Given the description of an element on the screen output the (x, y) to click on. 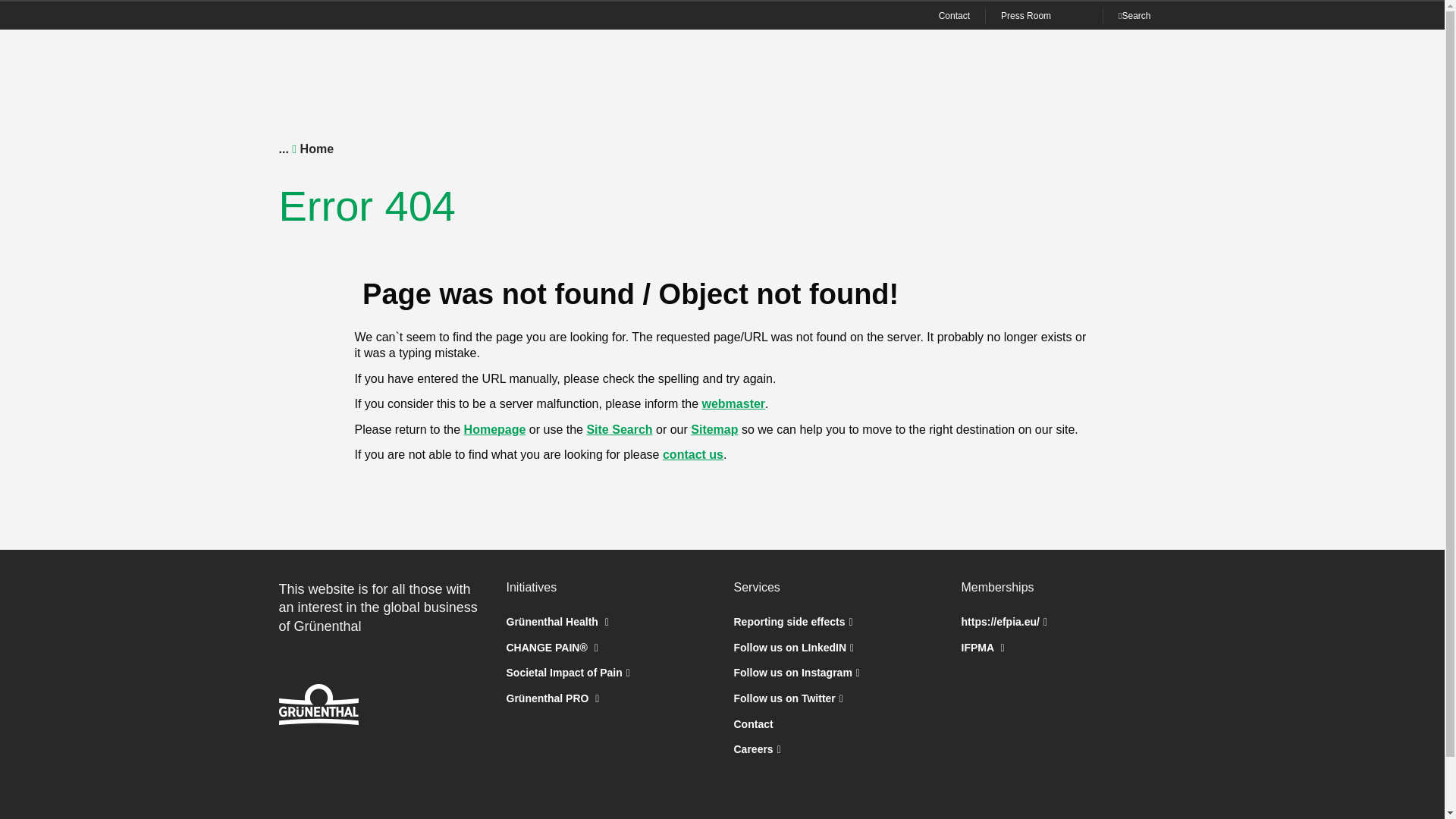
Press Room (1025, 15)
Search (1134, 15)
Contact (954, 15)
Home (316, 149)
